Given the description of an element on the screen output the (x, y) to click on. 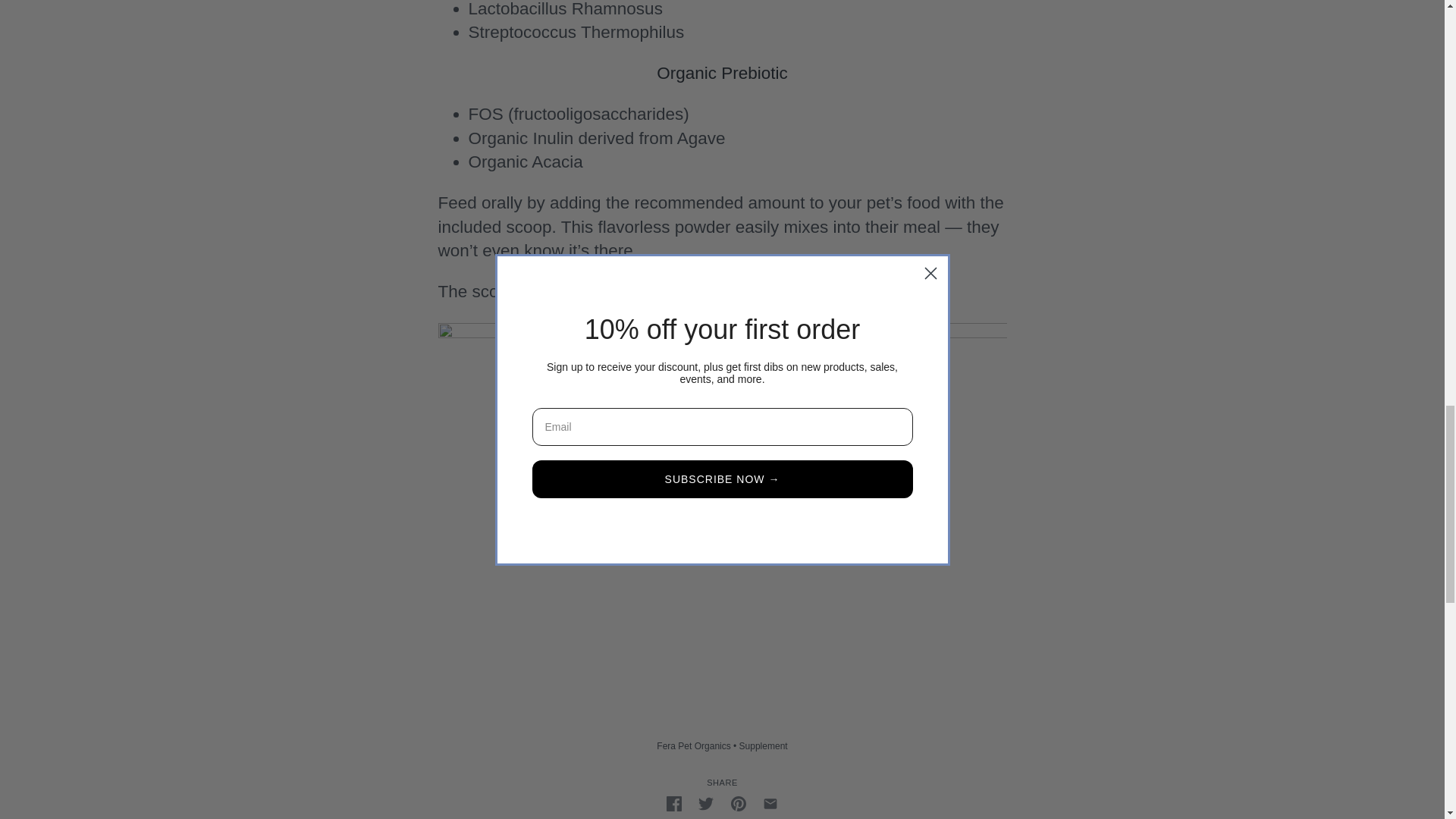
Share on Twitter (705, 803)
Pinterest (737, 803)
Email this product to somebody (769, 803)
Pin the main image (737, 803)
Facebook (673, 803)
Share on Facebook (673, 803)
Email (769, 803)
Twitter (705, 803)
